Given the description of an element on the screen output the (x, y) to click on. 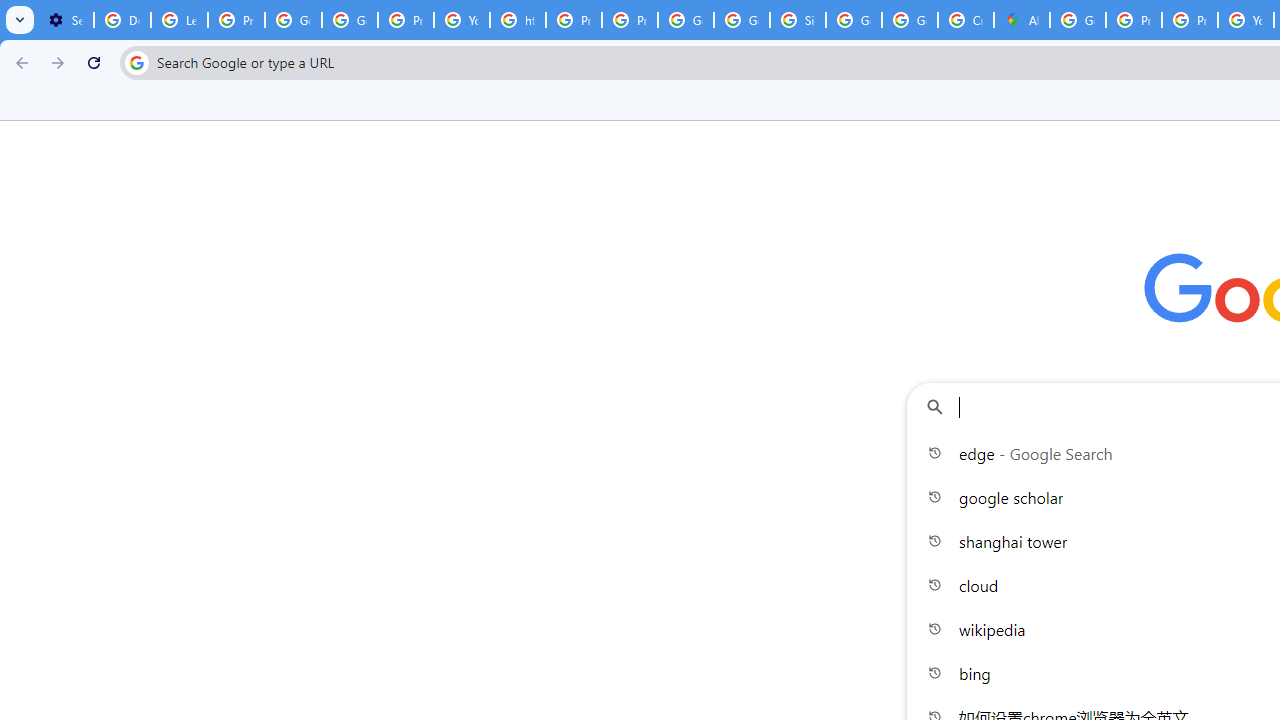
Learn how to find your photos - Google Photos Help (179, 20)
Google Account Help (349, 20)
Google Account Help (293, 20)
Search icon (136, 62)
Create your Google Account (966, 20)
Delete photos & videos - Computer - Google Photos Help (122, 20)
Privacy Help Center - Policies Help (1190, 20)
